Given the description of an element on the screen output the (x, y) to click on. 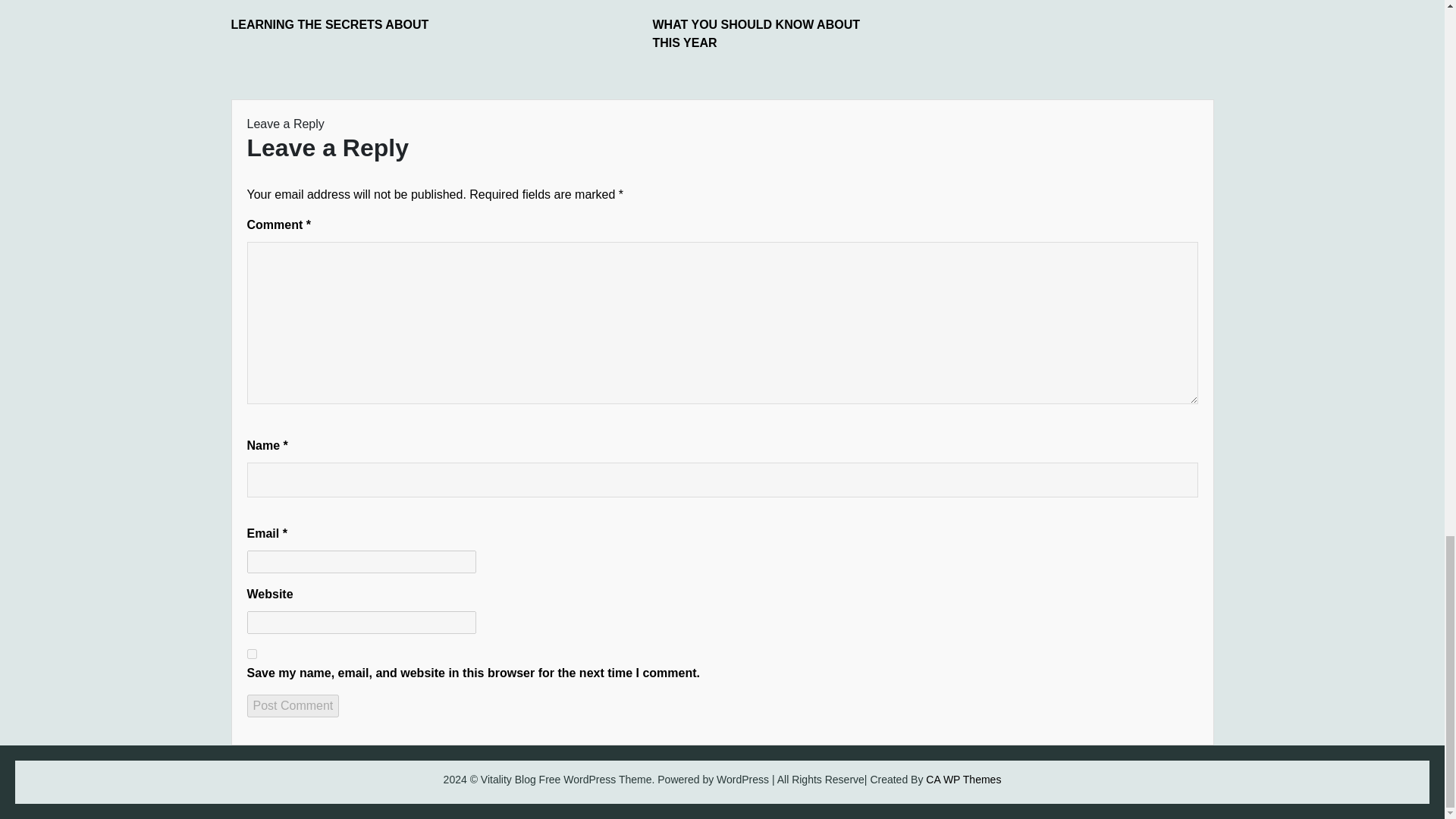
Post Comment (293, 705)
WHAT YOU SHOULD KNOW ABOUT THIS YEAR (765, 33)
LEARNING THE SECRETS ABOUT (344, 24)
Post Comment (293, 705)
yes (252, 654)
CA WP Themes (963, 779)
